Given the description of an element on the screen output the (x, y) to click on. 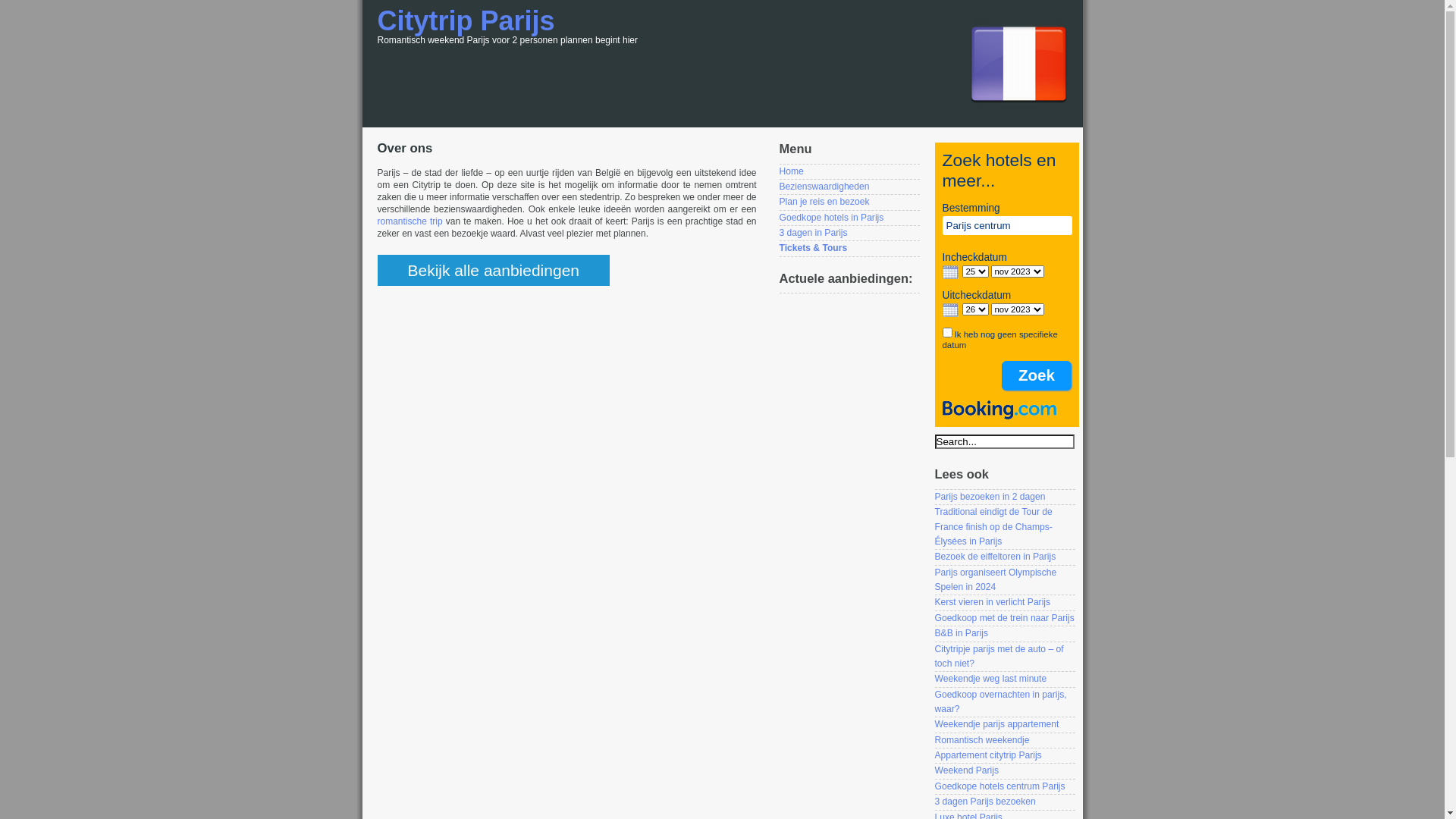
Bekijk alle aanbiedingen Element type: text (493, 269)
Kerst vieren in verlicht Parijs Element type: text (992, 601)
Open de kalender om een datum te kiezen Element type: hover (949, 272)
Tickets & Tours Element type: text (813, 247)
Appartement citytrip Parijs Element type: text (987, 754)
Open de kalender om een datum te kiezen Element type: hover (949, 309)
Home Element type: text (791, 171)
Parijs organiseert Olympische Spelen in 2024 Element type: text (995, 579)
romantische trip Element type: text (409, 221)
Weekend Parijs Element type: text (965, 770)
Weekendje parijs appartement Element type: text (996, 723)
B&B in Parijs Element type: text (961, 632)
Zoek Element type: text (1035, 374)
Parijs bezoeken in 2 dagen Element type: text (989, 496)
Bezoek de eiffeltoren in Parijs Element type: text (994, 556)
3 dagen Parijs bezoeken Element type: text (984, 801)
Goedkope hotels centrum Parijs Element type: text (999, 786)
Subscribe to RSS feed Element type: hover (1018, 108)
3 dagen in Parijs Element type: text (813, 232)
Goedkoop met de trein naar Parijs Element type: text (1003, 617)
Bezienswaardigheden Element type: text (824, 186)
Goedkope hotels in Parijs Element type: text (831, 217)
Weekendje weg last minute Element type: text (990, 678)
Plan je reis en bezoek Element type: text (824, 201)
Citytrip Parijs Element type: text (466, 20)
Romantisch weekendje Element type: text (981, 739)
Goedkoop overnachten in parijs, waar? Element type: text (1000, 701)
